Given the description of an element on the screen output the (x, y) to click on. 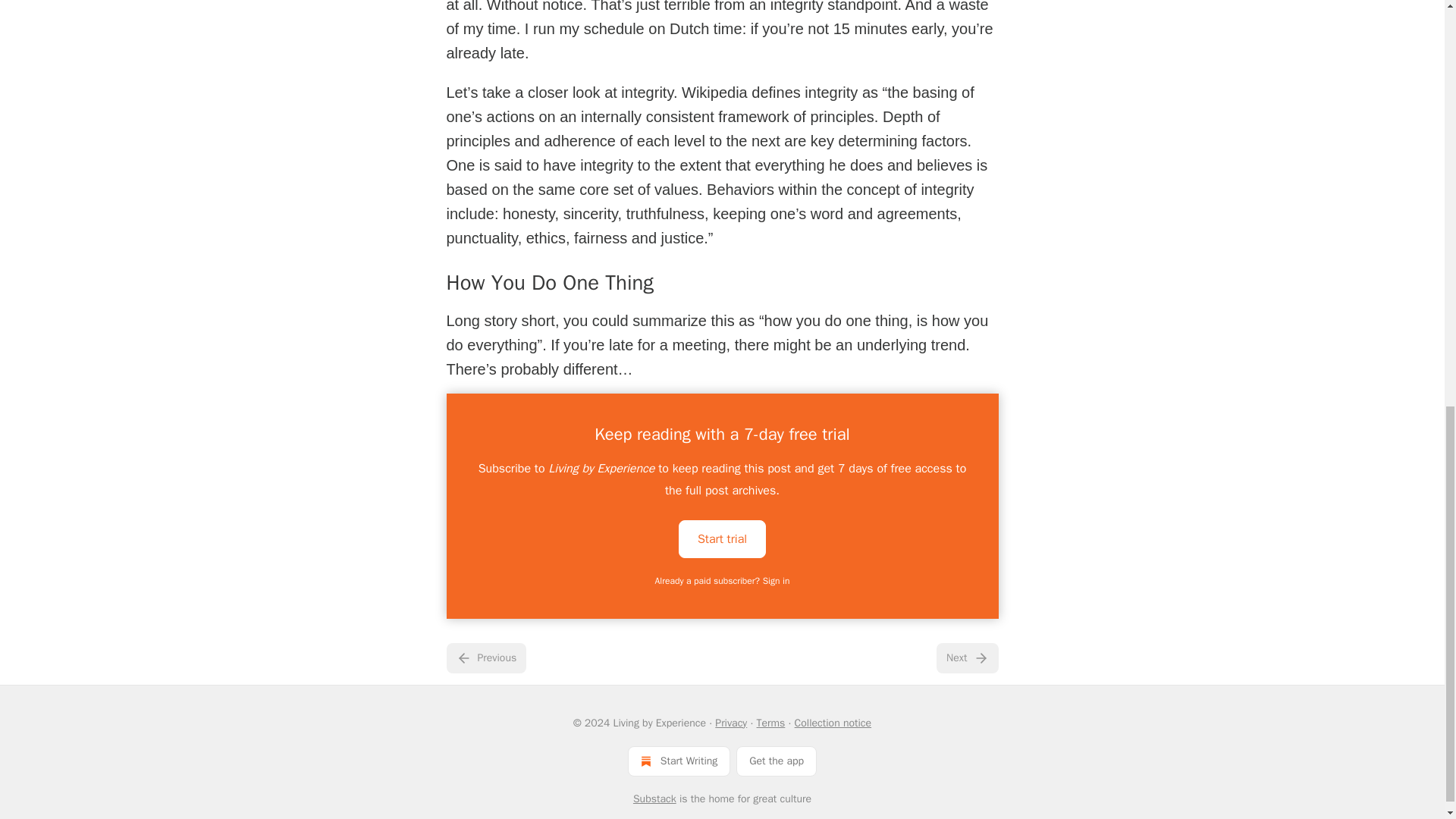
Start trial (721, 538)
Substack (655, 798)
Get the app (776, 761)
Previous (485, 657)
Start Writing (678, 761)
Start trial (721, 537)
Terms (771, 722)
Collection notice (832, 722)
Next (966, 657)
Privacy (730, 722)
